Given the description of an element on the screen output the (x, y) to click on. 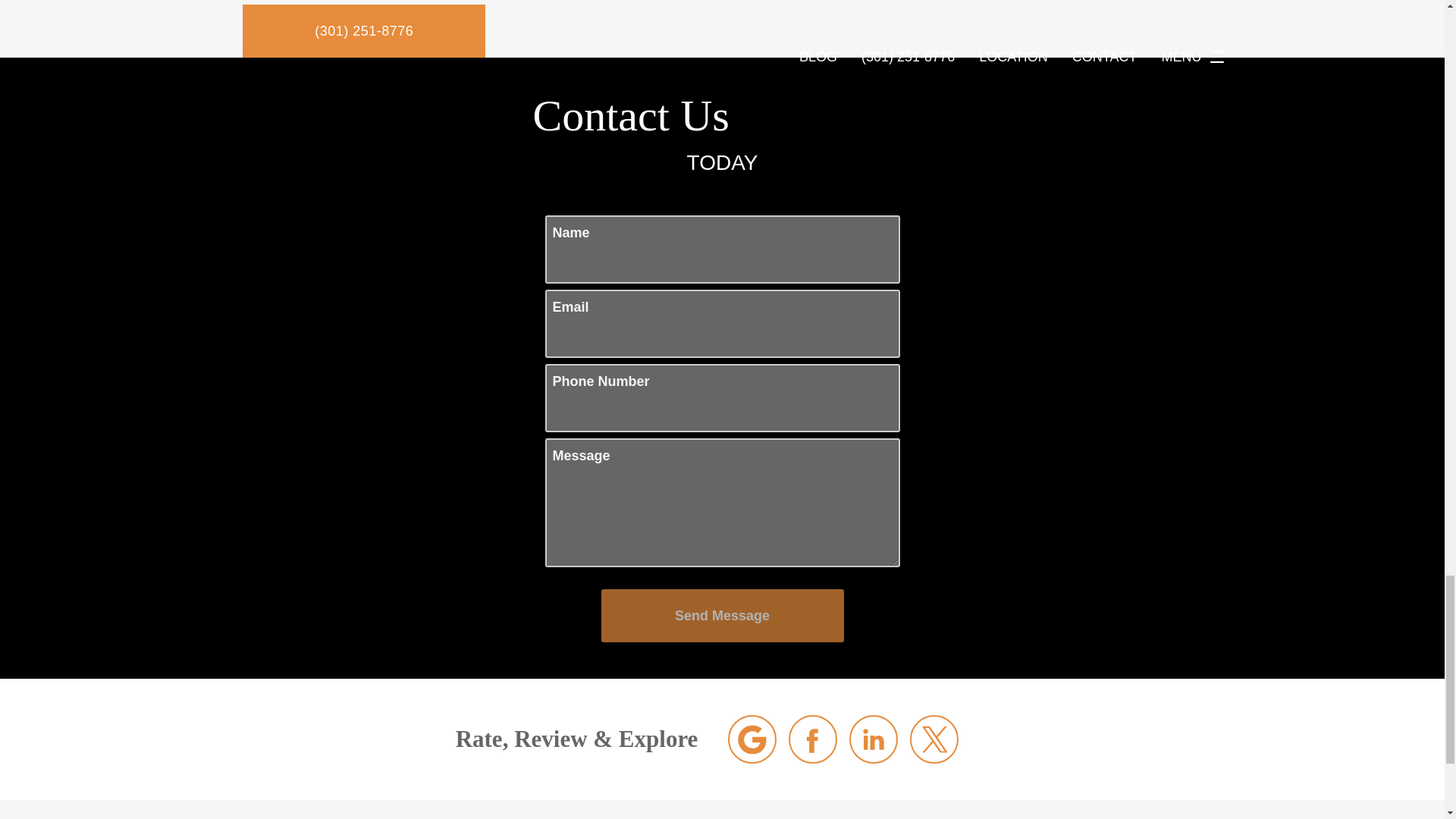
LinkedIn (873, 738)
Facebook (813, 738)
Google (752, 738)
Twitter (934, 738)
Send Message (721, 615)
